Given the description of an element on the screen output the (x, y) to click on. 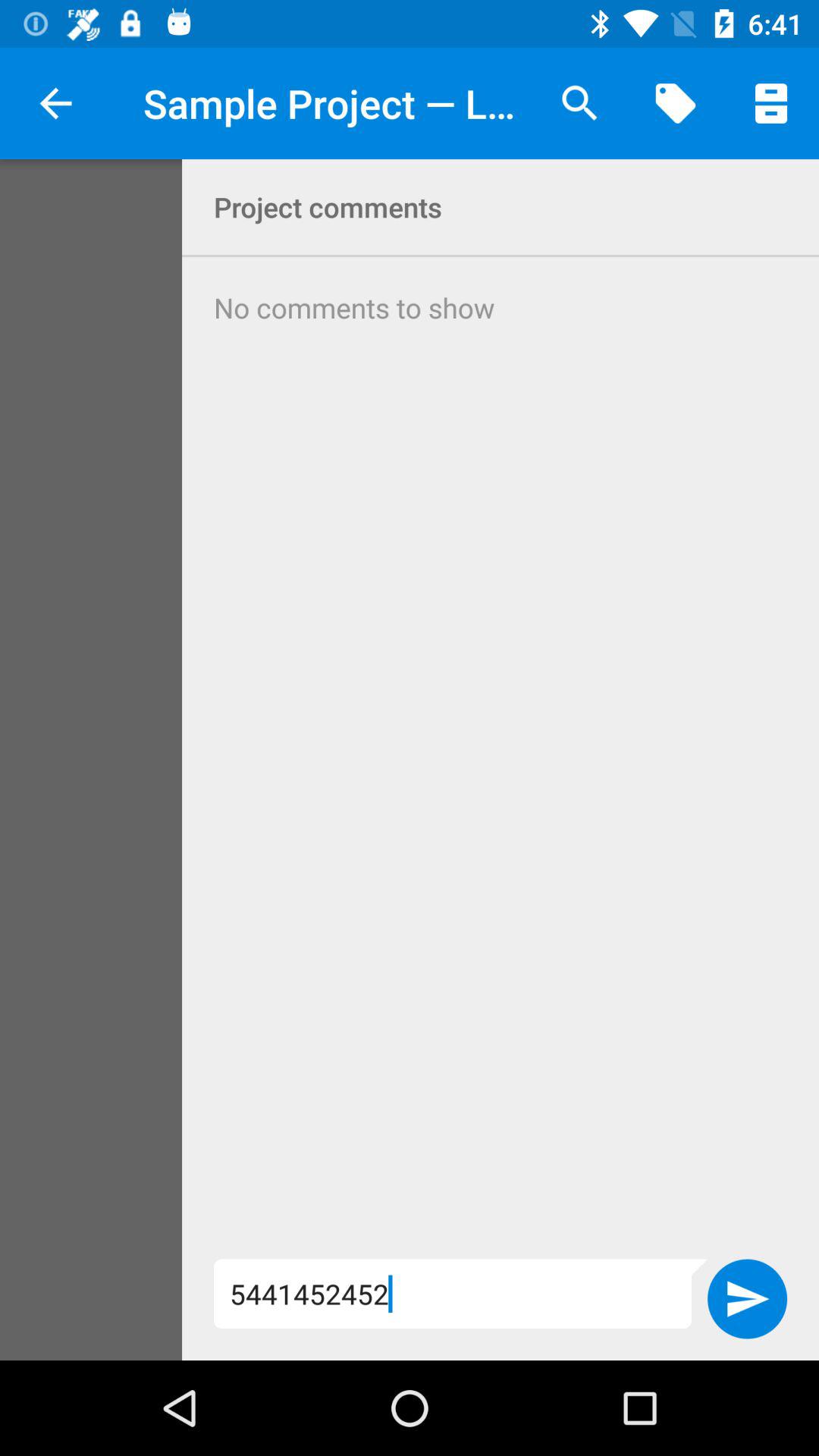
click on the arrow which is next to the text field (747, 1299)
click on the tag icon (675, 103)
